Given the description of an element on the screen output the (x, y) to click on. 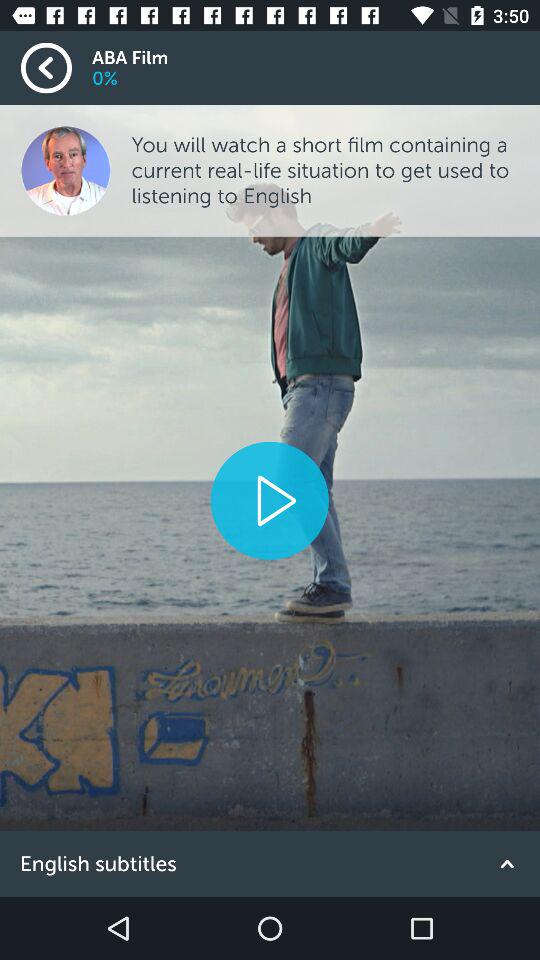
play video (269, 500)
